Given the description of an element on the screen output the (x, y) to click on. 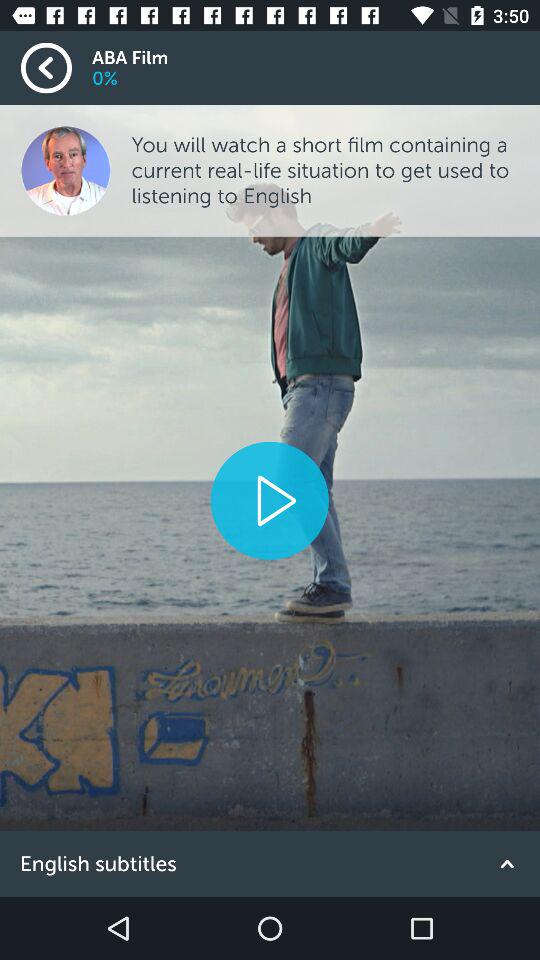
play video (269, 500)
